Given the description of an element on the screen output the (x, y) to click on. 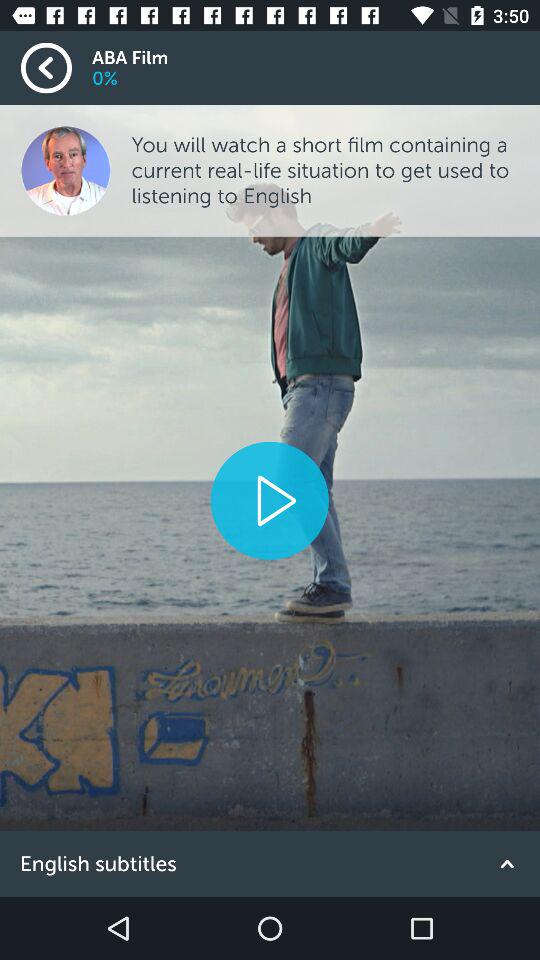
play video (269, 500)
